Given the description of an element on the screen output the (x, y) to click on. 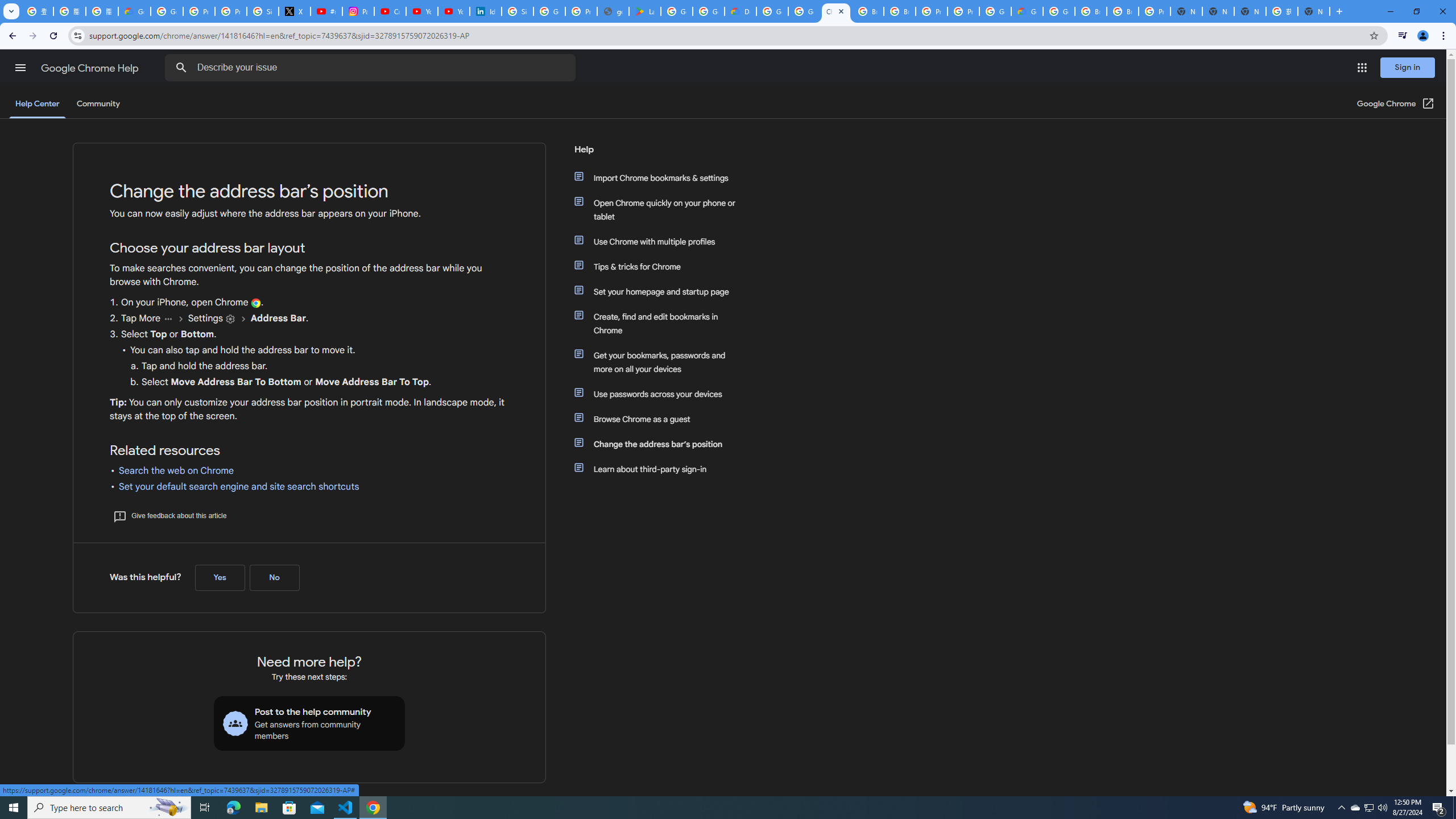
New Tab (1313, 11)
Use passwords across your devices (661, 394)
Browse Chrome as a guest - Computer - Google Chrome Help (868, 11)
Learn about third-party sign-in (661, 469)
google_privacy_policy_en.pdf (613, 11)
Identity verification via Persona | LinkedIn Help (485, 11)
Describe your issue (371, 67)
